Given the description of an element on the screen output the (x, y) to click on. 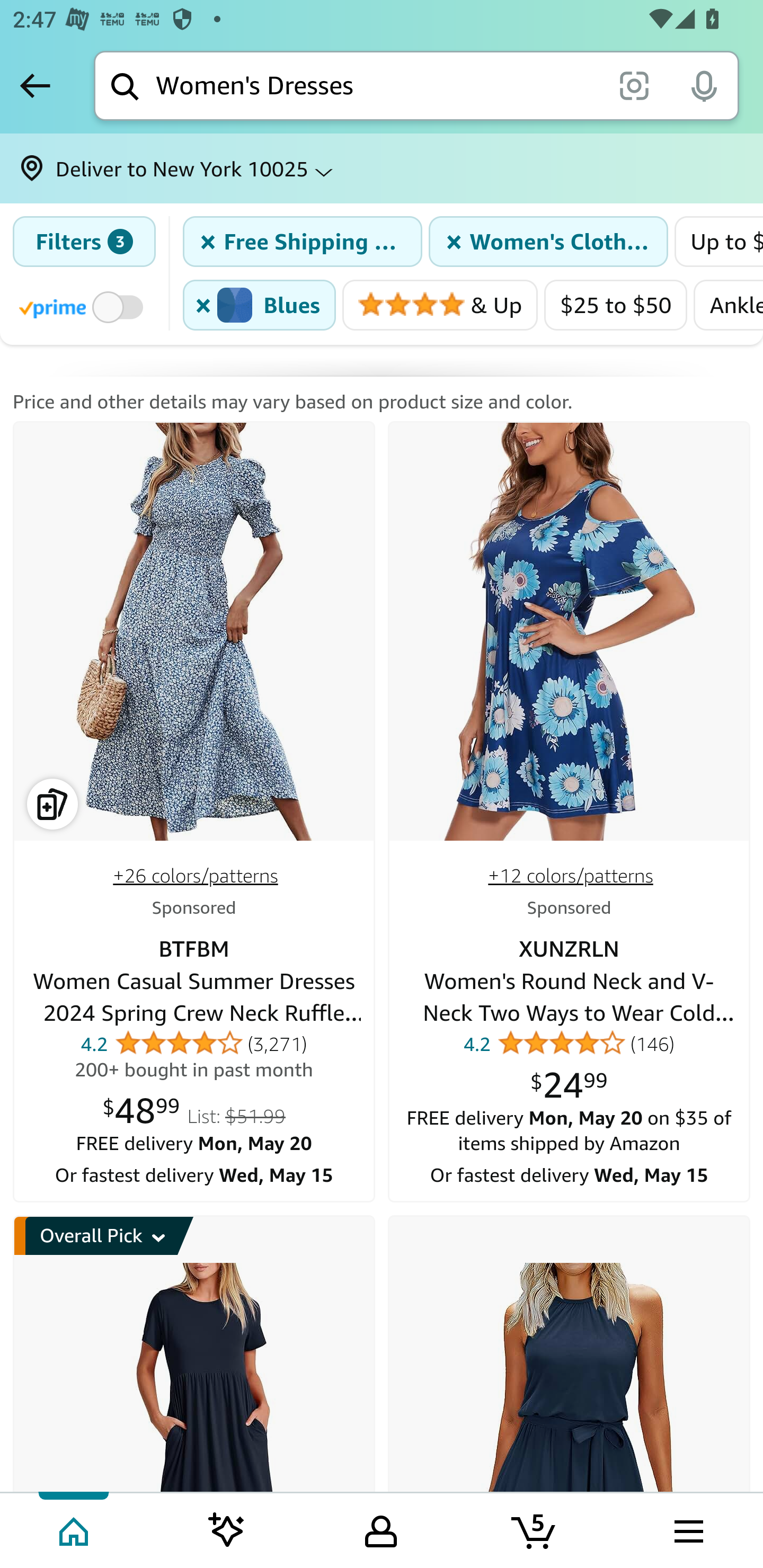
Back (35, 85)
scan it (633, 85)
Deliver to New York 10025 ⌵ (381, 168)
Filters 3 (83, 241)
× Women's Clothing × Women's Clothing (548, 241)
Up to $25 (718, 241)
Toggle to filter by Prime products Prime Eligible (83, 306)
× Blues Blues × Blues Blues (260, 304)
4 Stars & Up (439, 304)
$25 to $50 (615, 304)
+26 colors/patterns (195, 876)
+12 colors/patterns (570, 876)
Home Tab 1 of 5 (75, 1529)
Inspire feed Tab 2 of 5 (227, 1529)
Your Amazon.com Tab 3 of 5 (380, 1529)
Cart 5 items Tab 4 of 5 5 (534, 1529)
Browse menu Tab 5 of 5 (687, 1529)
